Given the description of an element on the screen output the (x, y) to click on. 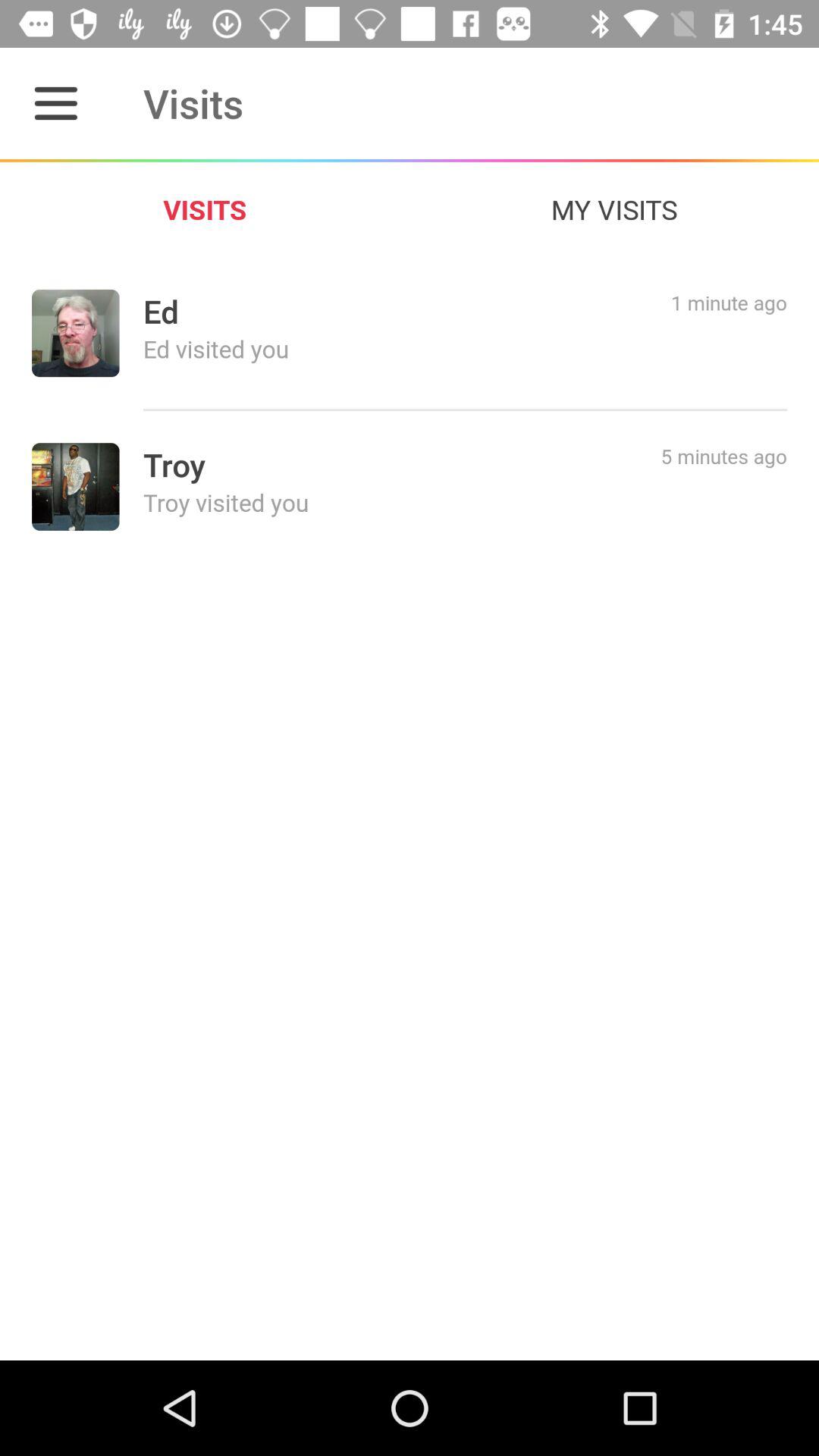
choose item to the left of the visits (55, 103)
